Given the description of an element on the screen output the (x, y) to click on. 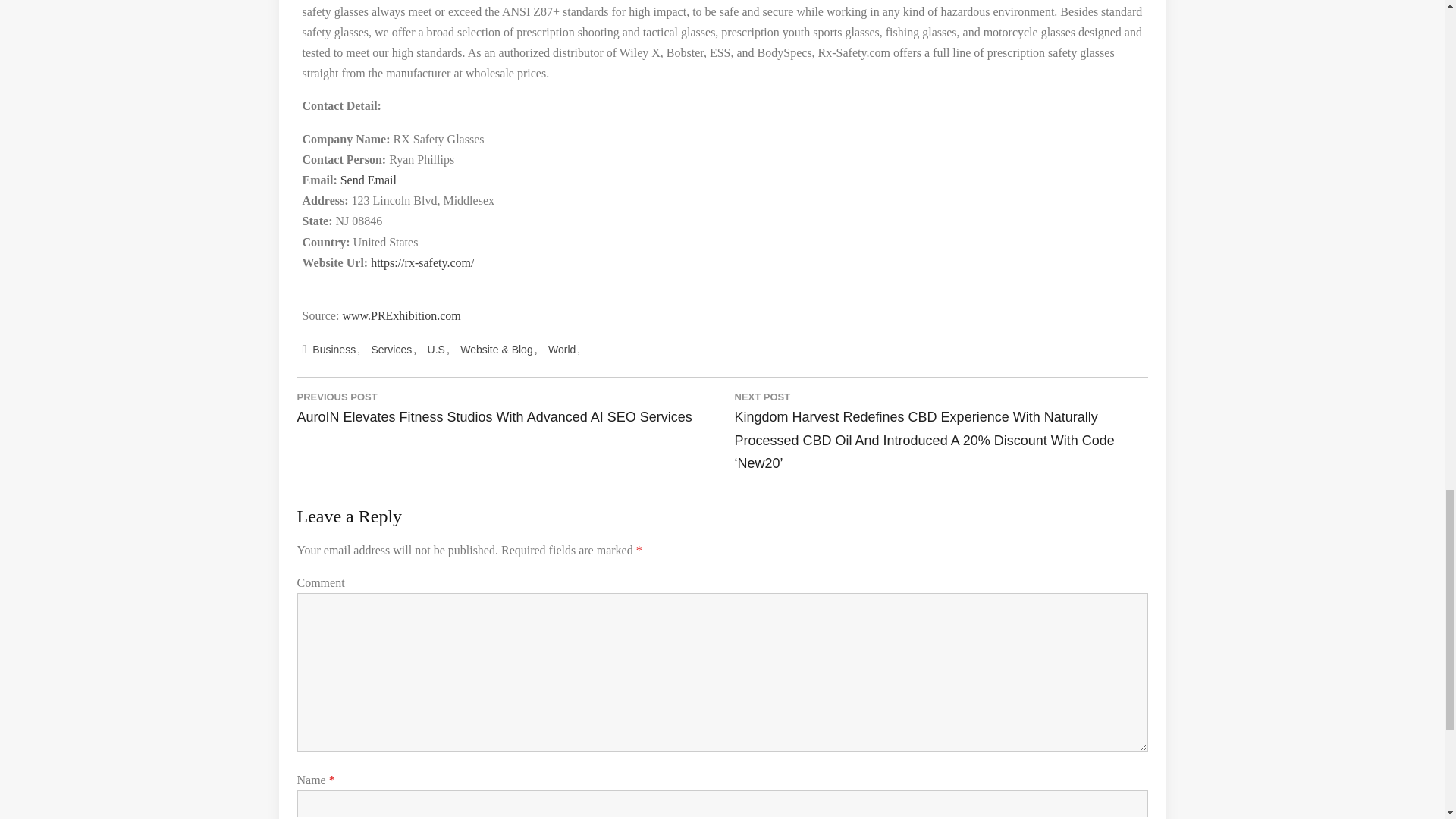
Business (335, 350)
Services (394, 350)
U.S (438, 350)
World (563, 350)
www.PRExhibition.com (401, 315)
Send Email (368, 179)
